Given the description of an element on the screen output the (x, y) to click on. 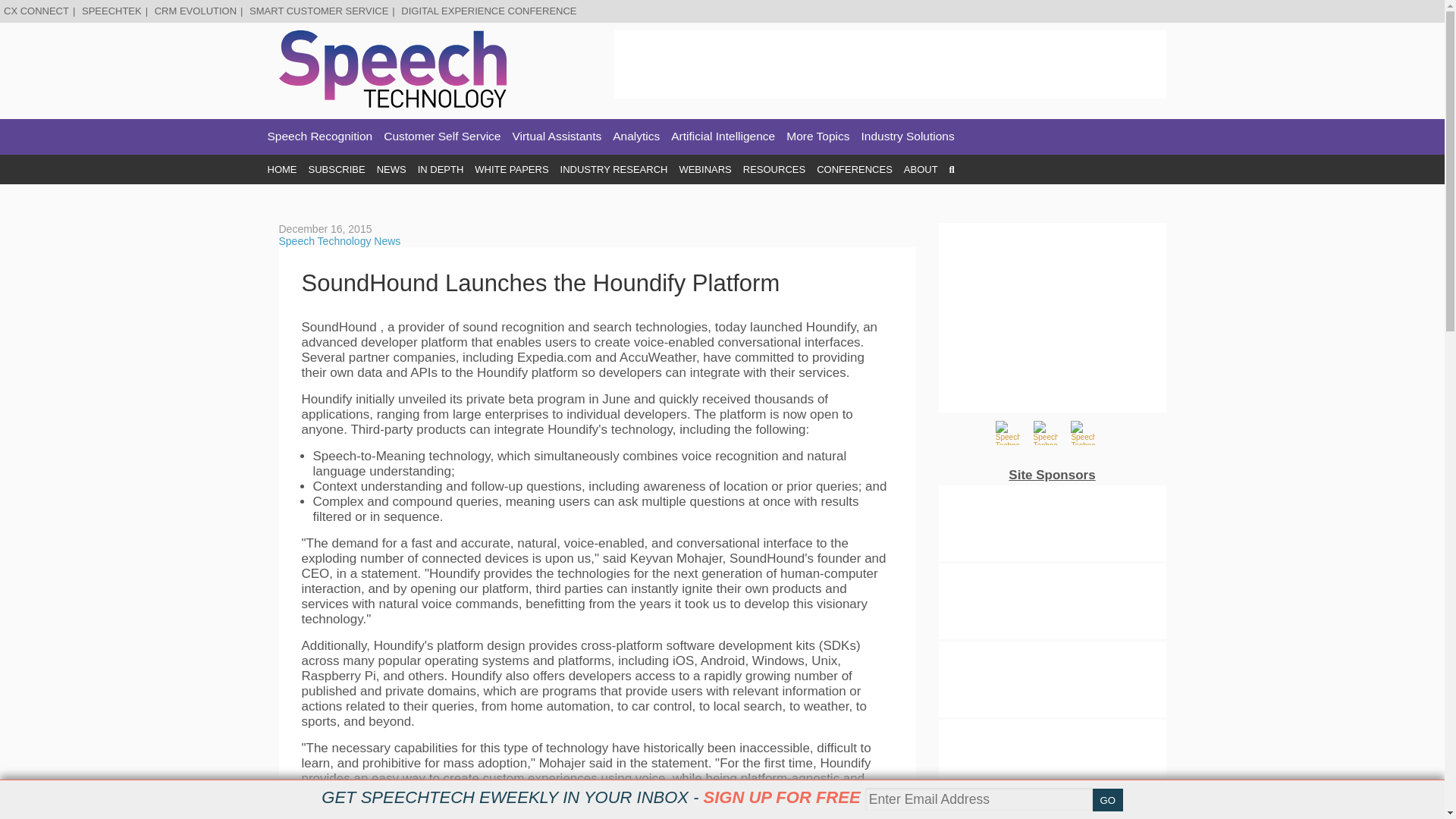
CX CONNECT (36, 10)
CRM EVOLUTION (194, 10)
Analytics (635, 136)
Artificial Intelligence (722, 136)
Industry Solutions (908, 136)
Analytics (635, 136)
GO (1107, 799)
DIGITAL EXPERIENCE CONFERENCE (488, 10)
Artificial Intelligence (722, 136)
Speech Recognition (319, 136)
